Given the description of an element on the screen output the (x, y) to click on. 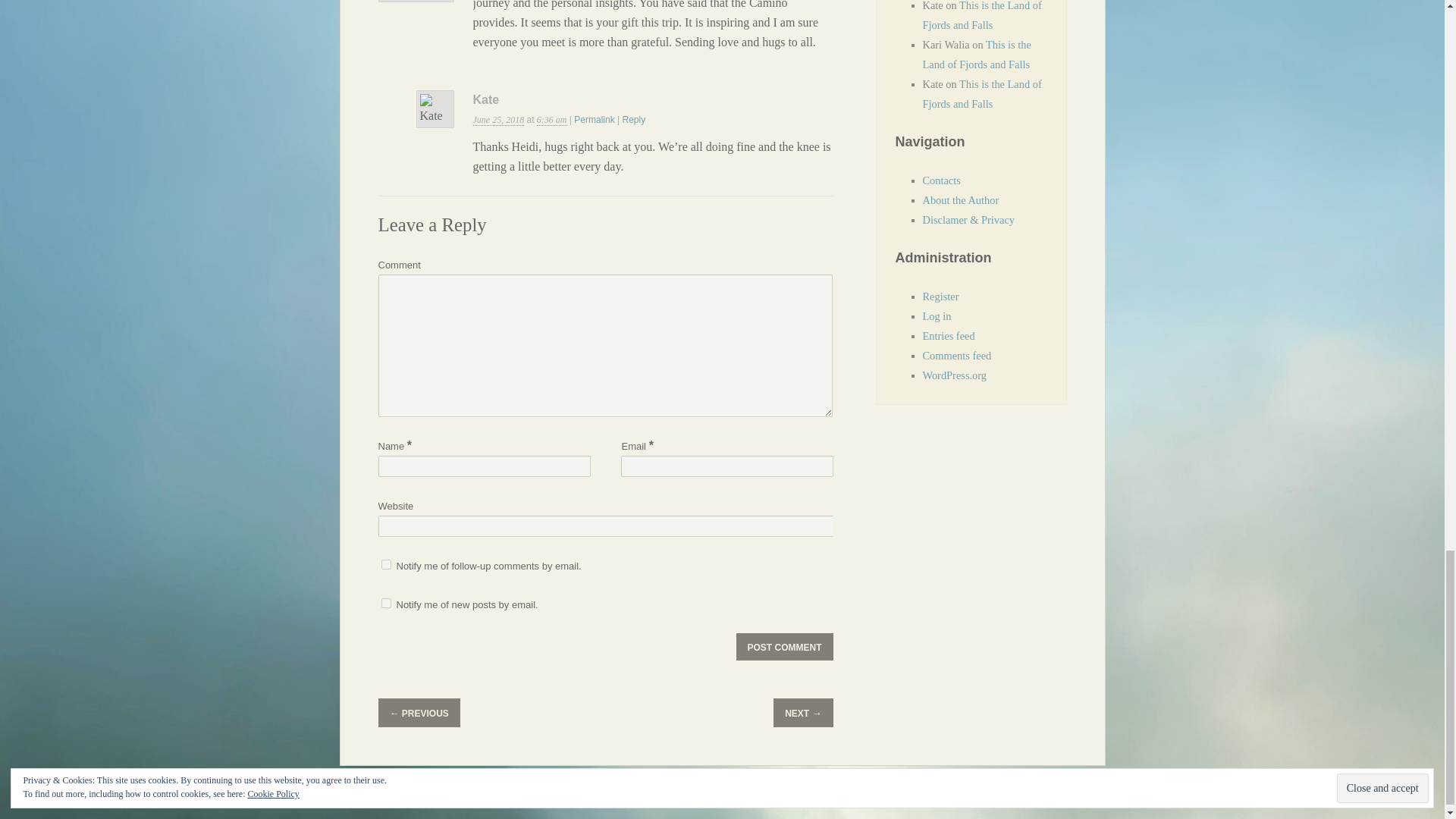
subscribe (385, 564)
Post Comment (783, 646)
subscribe (385, 603)
